Given the description of an element on the screen output the (x, y) to click on. 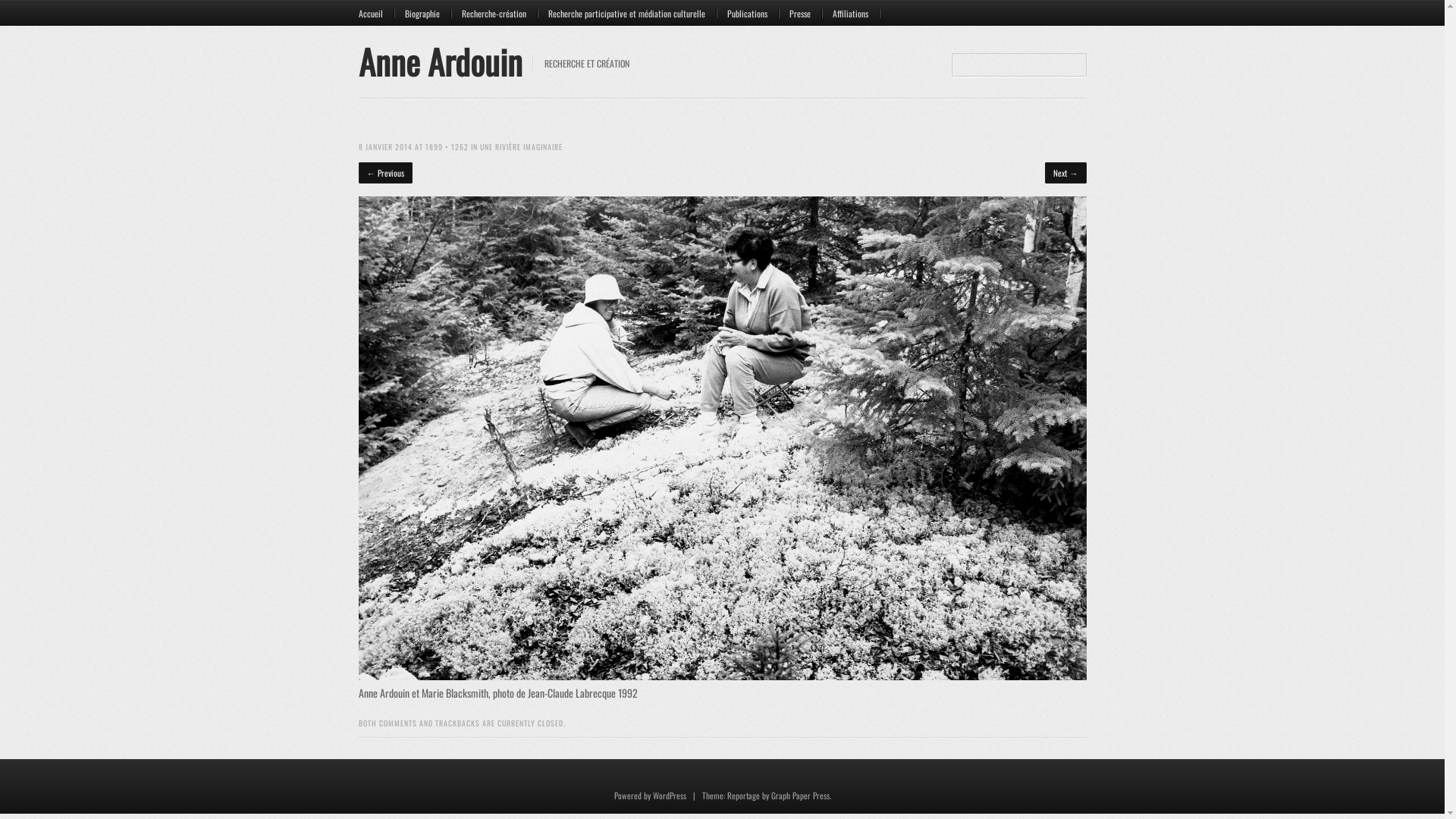
Skip to content Element type: text (390, 7)
Search Element type: text (30, 10)
Reportage Element type: text (742, 795)
Accueil Element type: text (375, 13)
Anne Ardouin Element type: text (439, 61)
Publications Element type: text (752, 13)
Biographie Element type: text (427, 13)
Graph Paper Press Element type: text (799, 795)
Presse Element type: text (805, 13)
Affiliations Element type: text (855, 13)
Powered by WordPress Element type: text (650, 795)
